Given the description of an element on the screen output the (x, y) to click on. 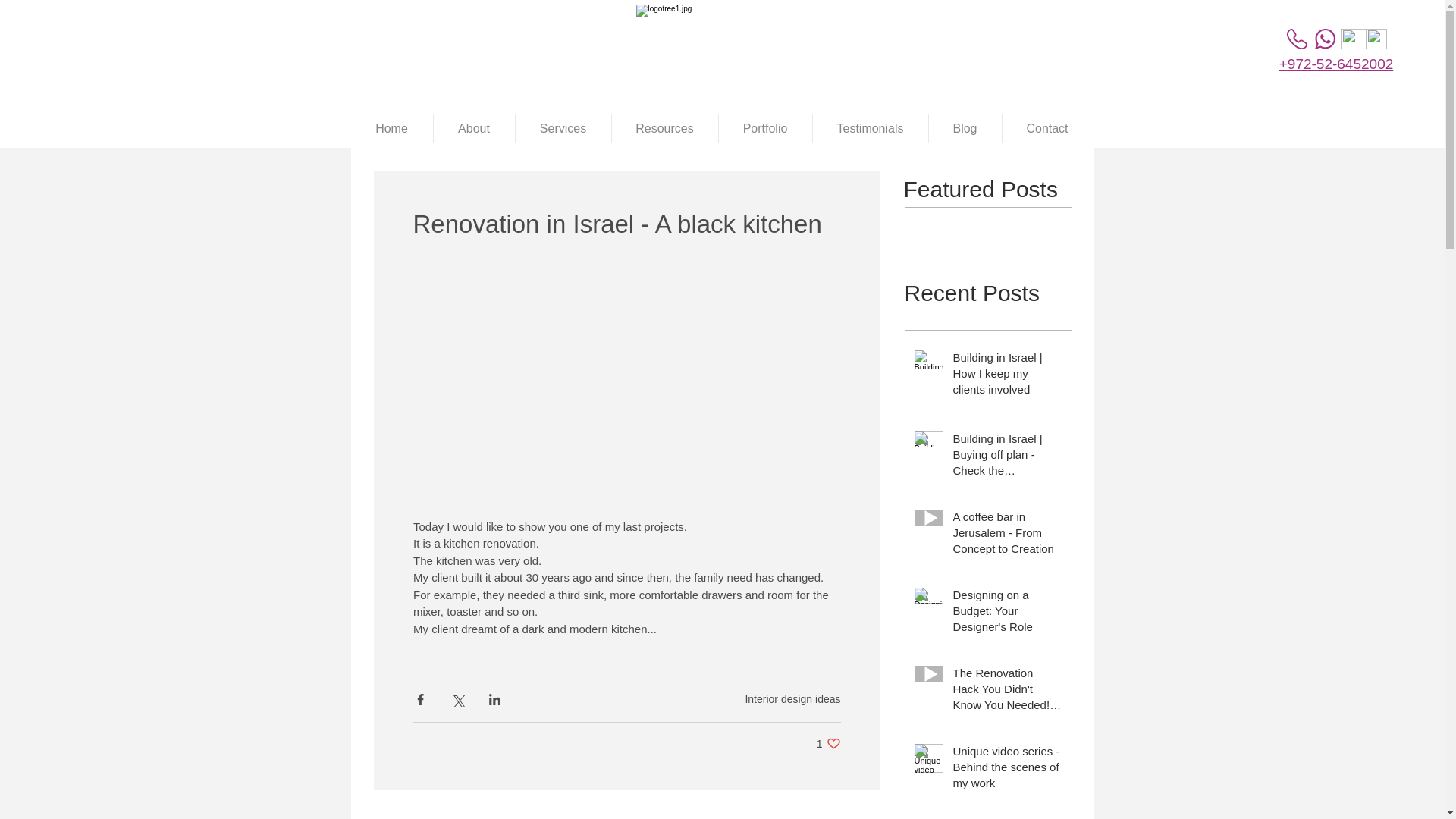
Resources (664, 128)
Contact (1048, 128)
Blog (964, 128)
A coffee bar in Jerusalem - From Concept to Creation (1006, 535)
Unique video series - Behind the scenes of my work (1006, 769)
Services (828, 743)
Designing on a Budget: Your Designer's Role (563, 128)
Home (1006, 613)
Interior design ideas (391, 128)
